Given the description of an element on the screen output the (x, y) to click on. 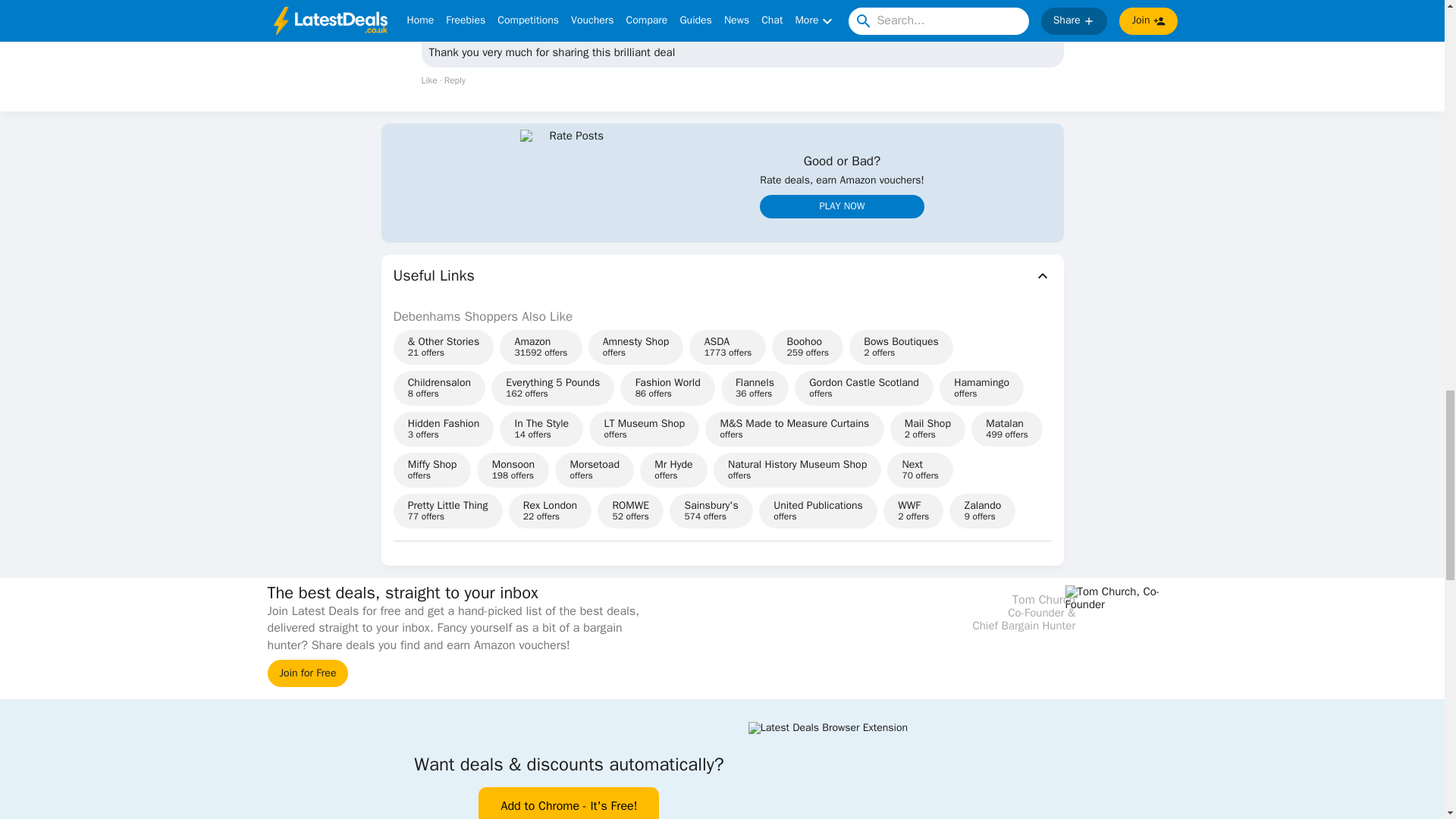
Ballard61 (443, 7)
